Given the description of an element on the screen output the (x, y) to click on. 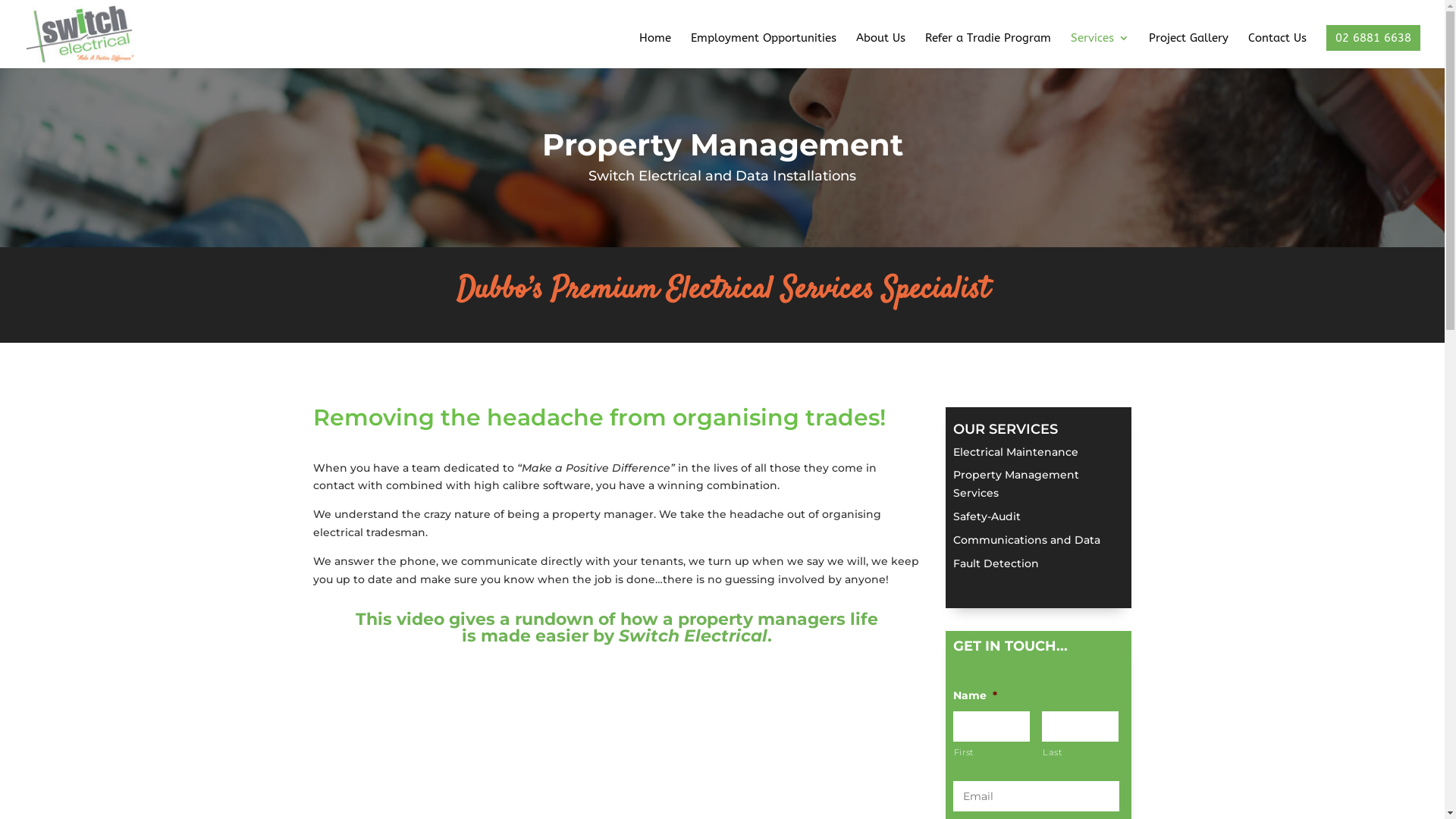
Property Management Services Element type: text (1016, 483)
Employment Opportunities Element type: text (763, 50)
About Us Element type: text (880, 50)
Home Element type: text (655, 50)
Safety-Audit Element type: text (986, 516)
Fault Detection Element type: text (995, 563)
Services Element type: text (1099, 50)
Contact Us Element type: text (1277, 50)
Refer a Tradie Program Element type: text (988, 50)
Communications and Data Element type: text (1026, 539)
Electrical Maintenance Element type: text (1015, 451)
Project Gallery Element type: text (1188, 50)
02 6881 6638 Element type: text (1373, 37)
